Given the description of an element on the screen output the (x, y) to click on. 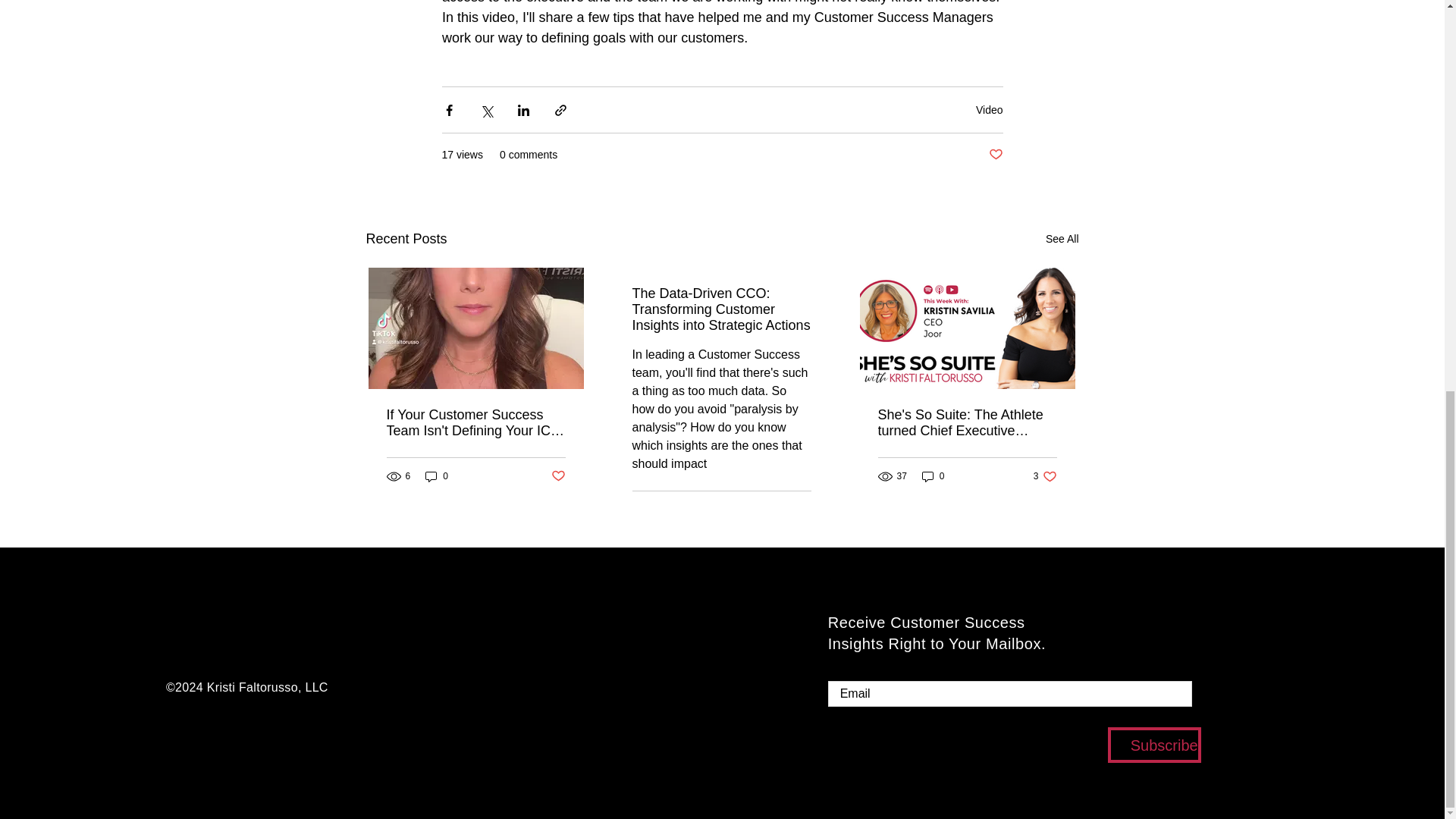
3 likes. Post not marked as liked (1045, 476)
0 (798, 509)
Post not marked as liked (933, 476)
See All (557, 476)
Video (1061, 239)
Post not marked as liked (989, 110)
0 (995, 154)
